Given the description of an element on the screen output the (x, y) to click on. 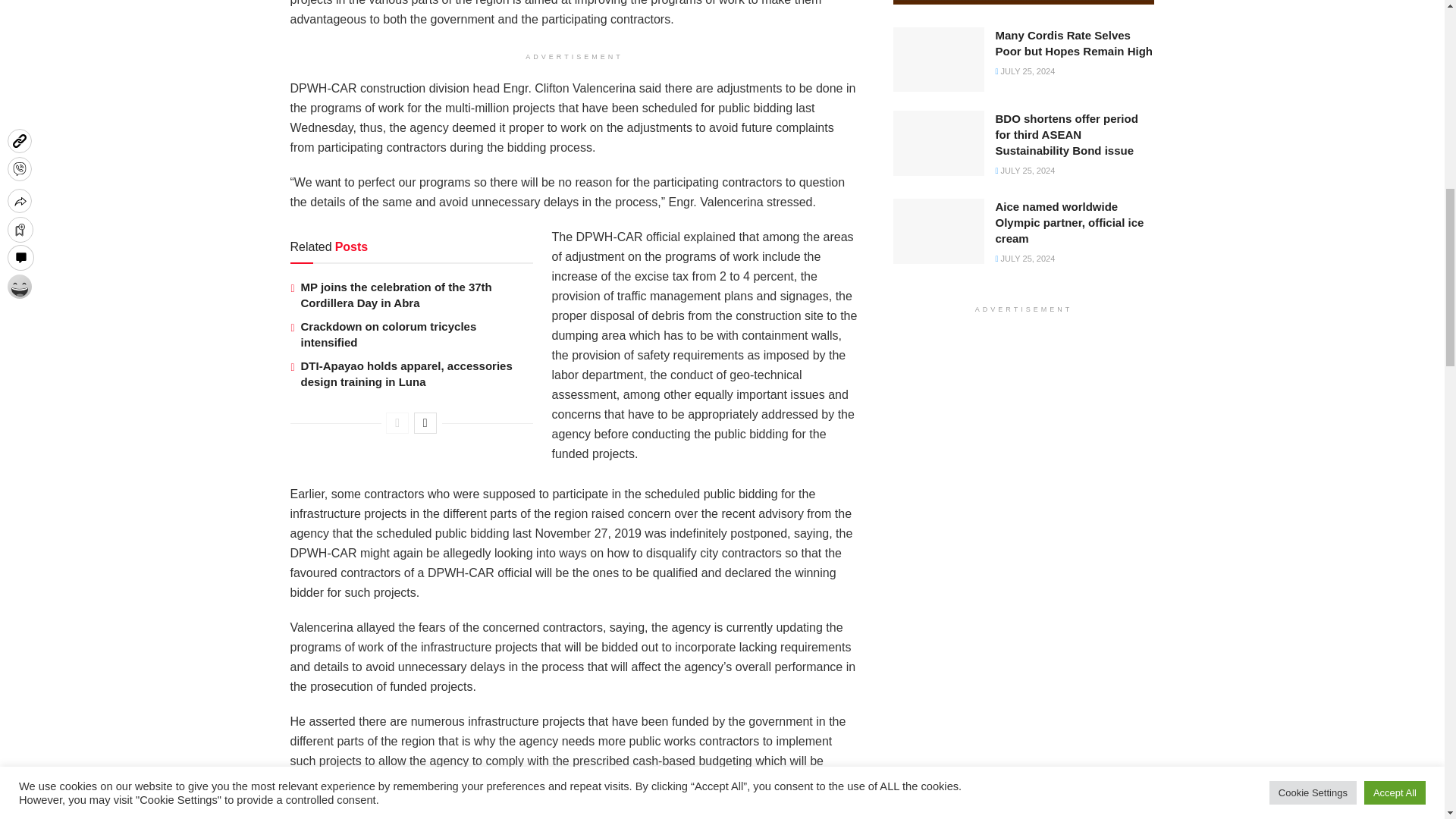
Next (424, 423)
Previous (397, 423)
